Given the description of an element on the screen output the (x, y) to click on. 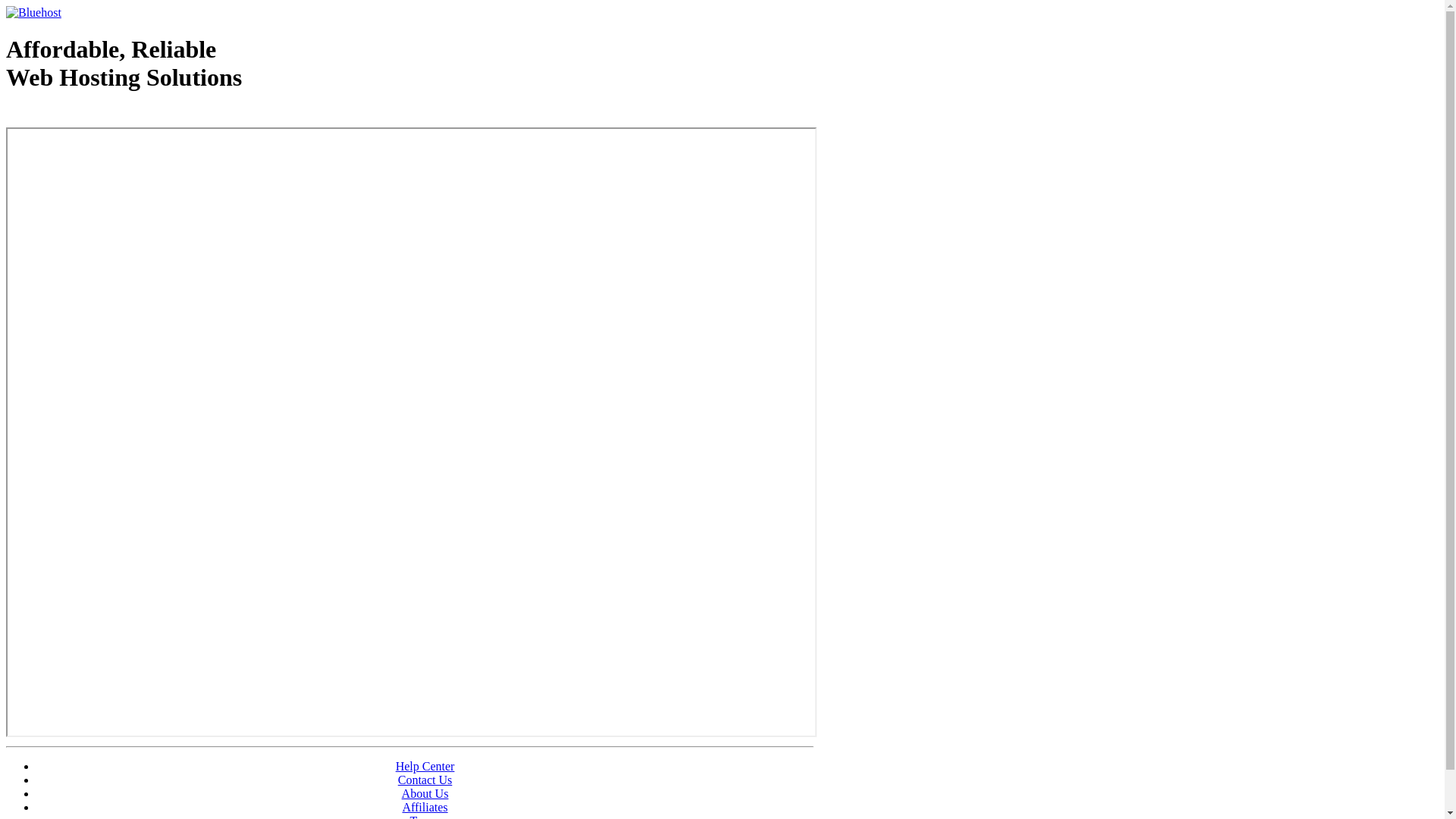
Help Center Element type: text (425, 765)
Affiliates Element type: text (424, 806)
Web Hosting - courtesy of www.bluehost.com Element type: text (94, 115)
Contact Us Element type: text (425, 779)
About Us Element type: text (424, 793)
